Given the description of an element on the screen output the (x, y) to click on. 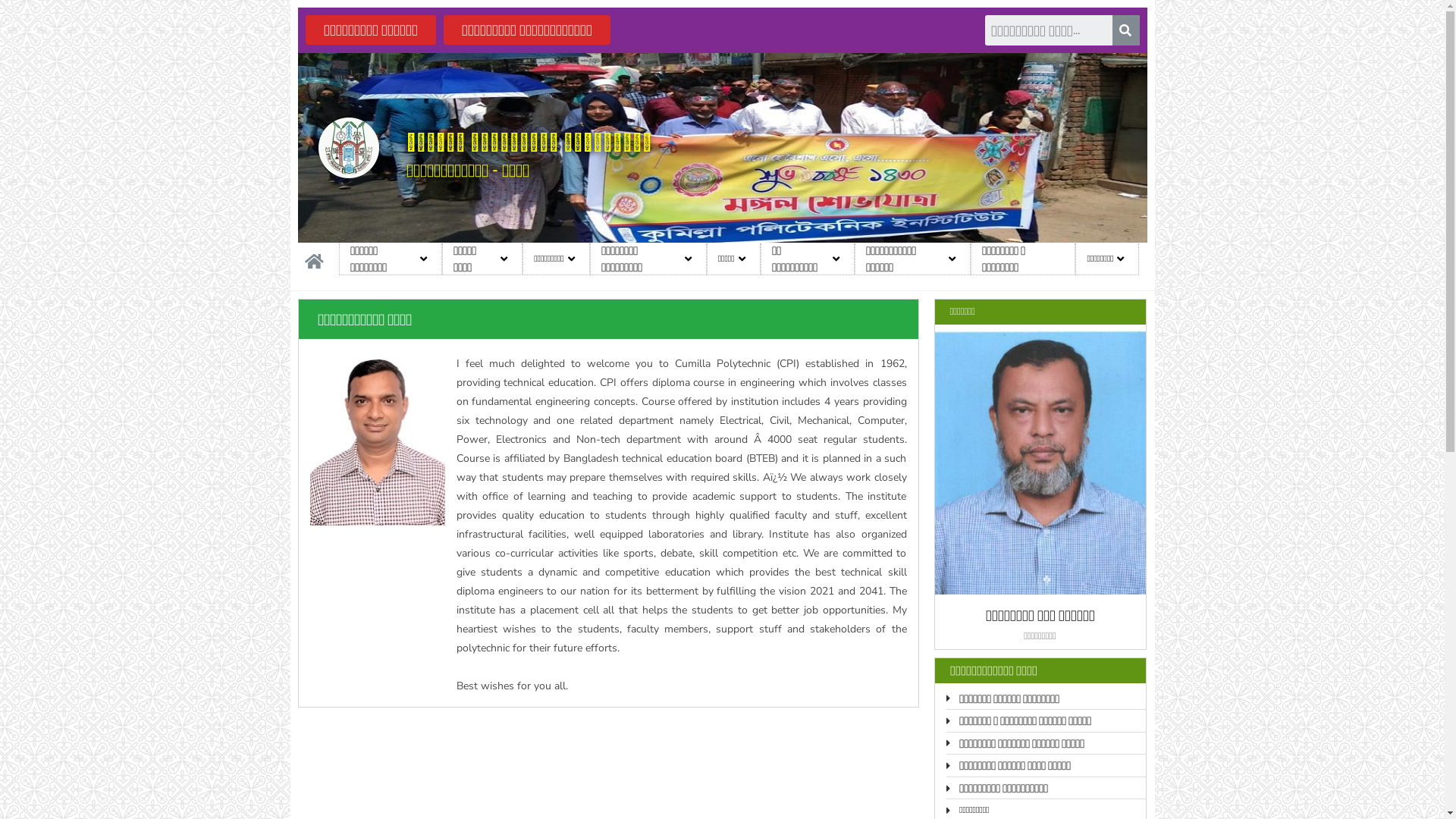
Search Element type: hover (1125, 30)
Search Element type: hover (1047, 30)
300521_02_59_10 Element type: hover (348, 147)
